Given the description of an element on the screen output the (x, y) to click on. 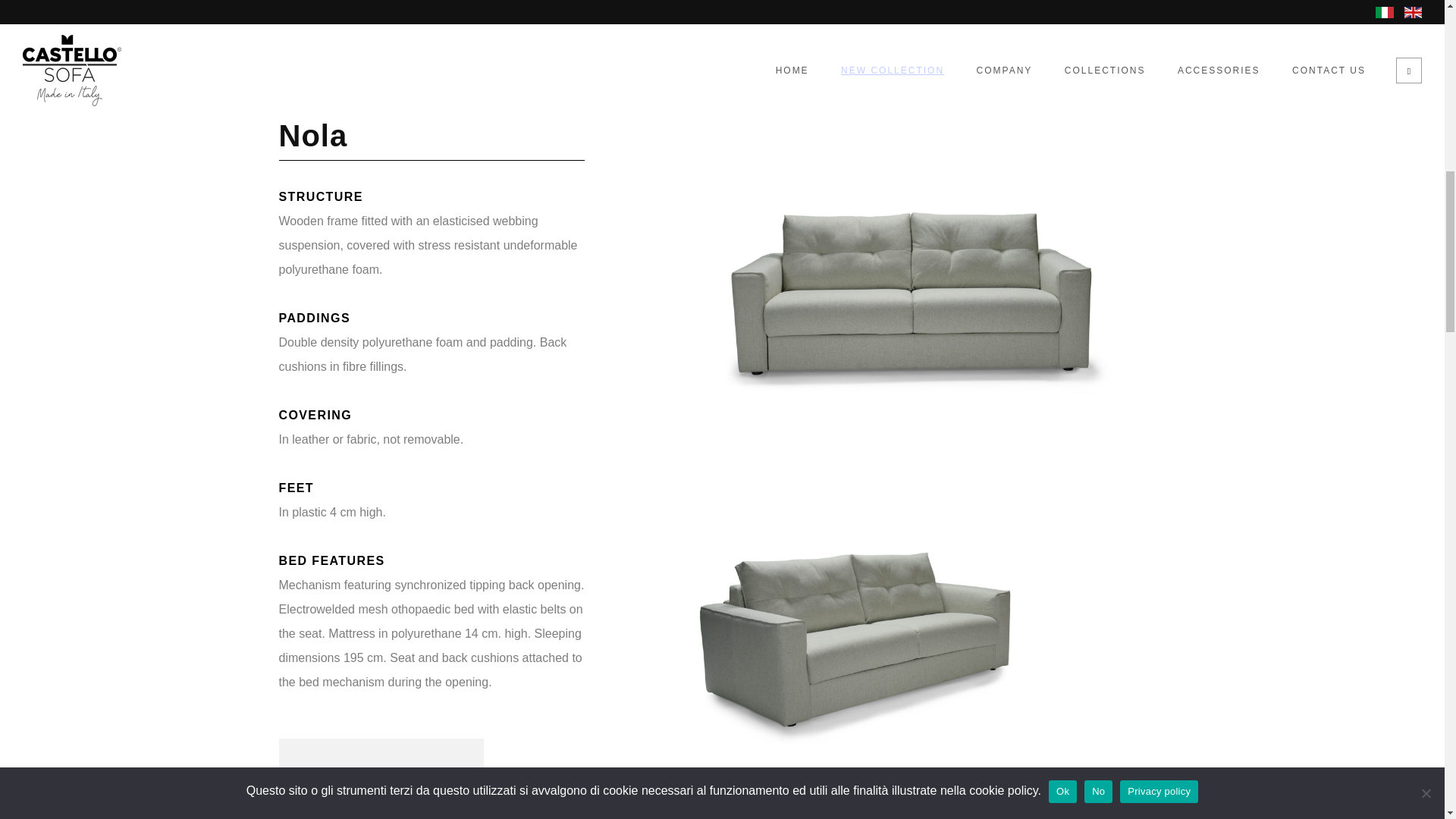
Download (394, 809)
